Given the description of an element on the screen output the (x, y) to click on. 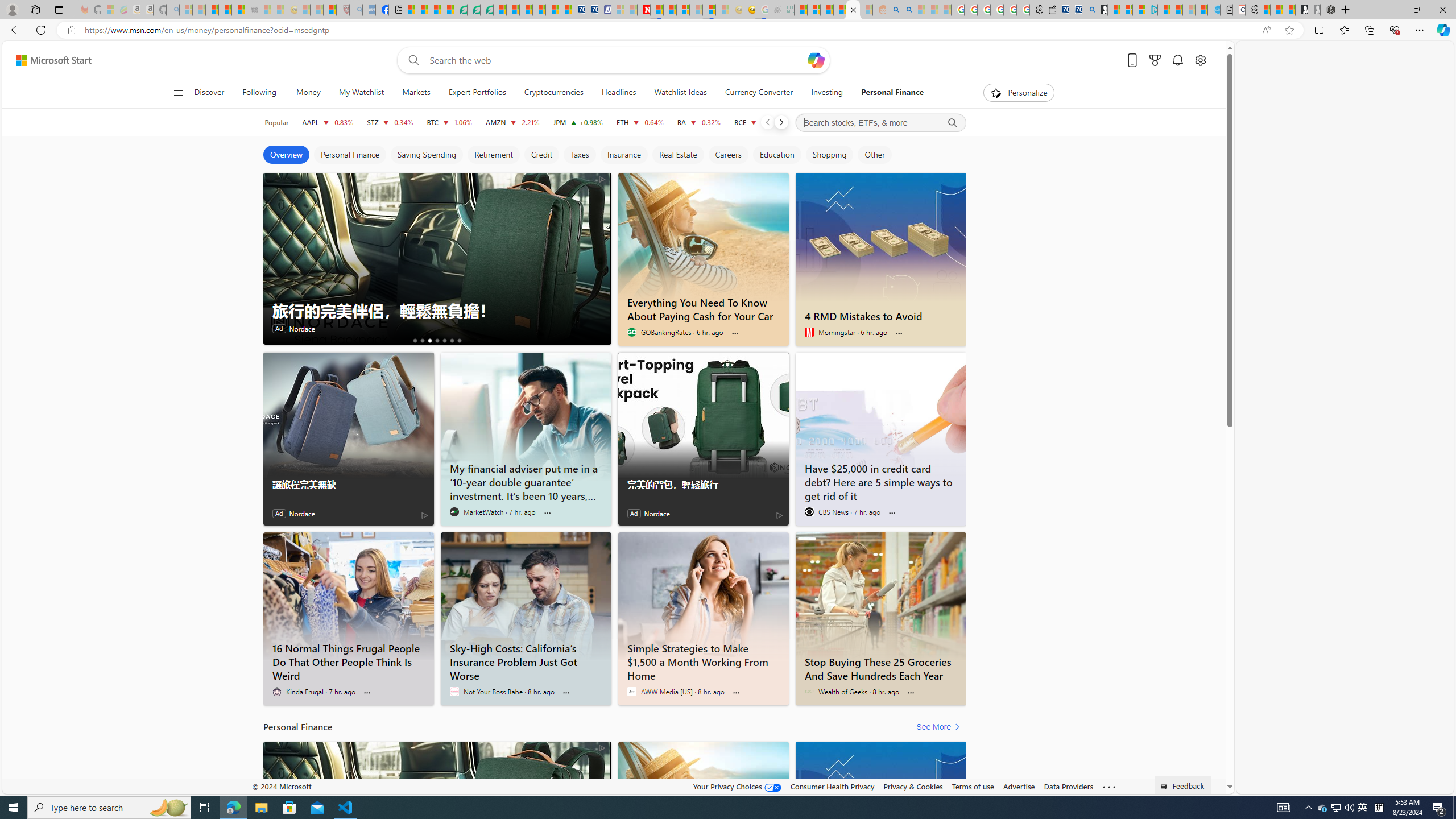
AdChoices (601, 747)
